Given the description of an element on the screen output the (x, y) to click on. 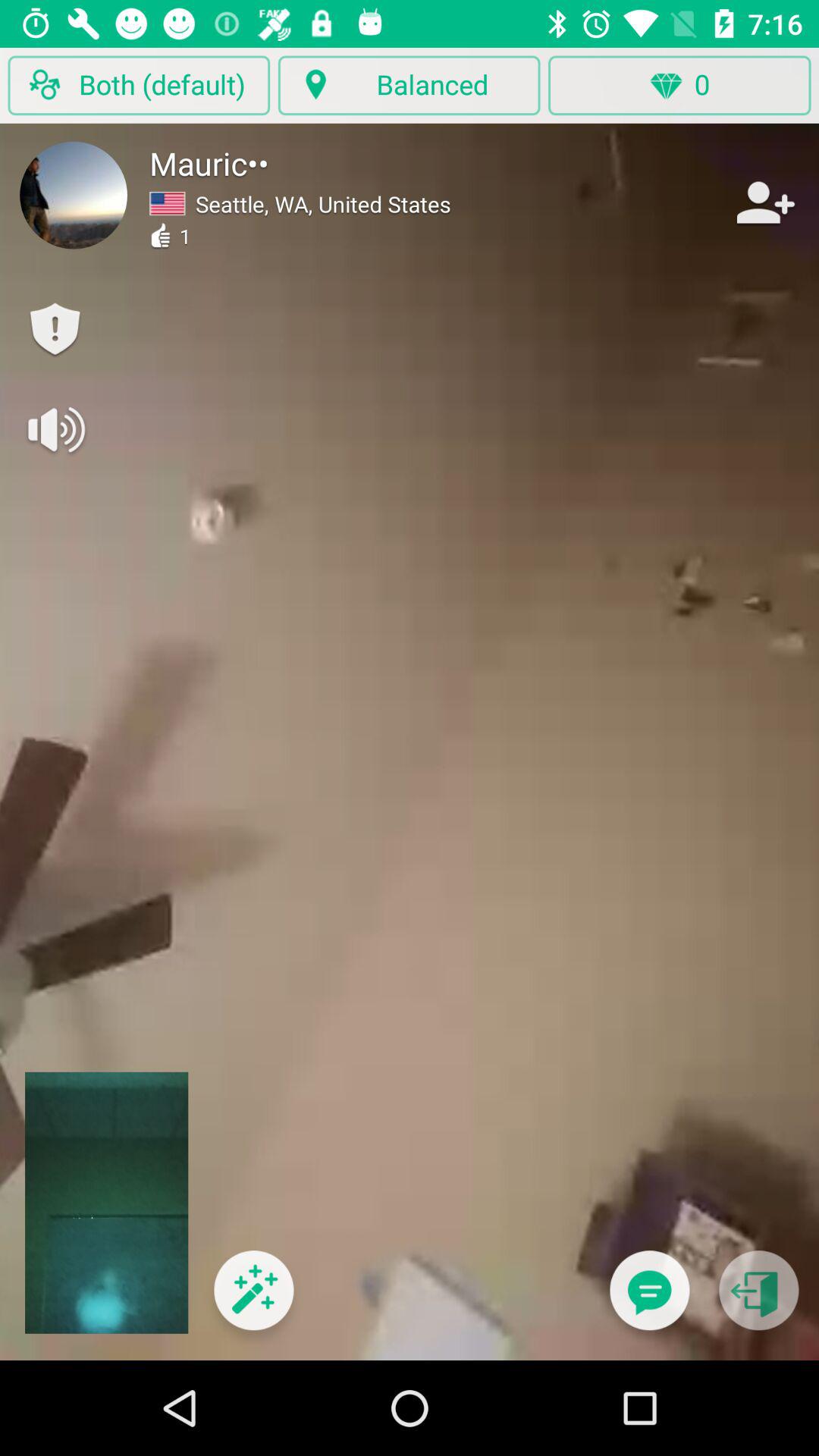
select avatar (73, 195)
